Given the description of an element on the screen output the (x, y) to click on. 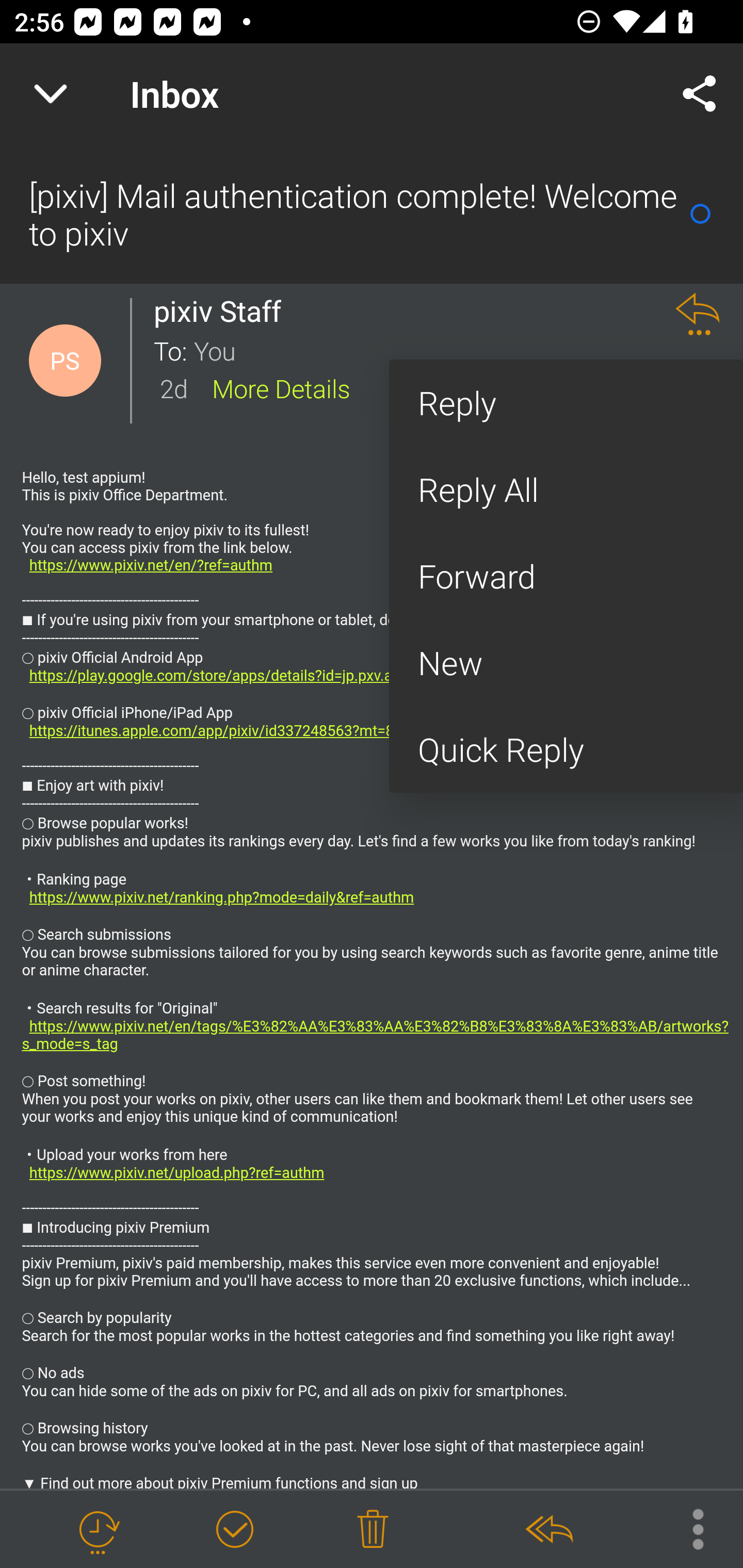
Reply (566, 402)
Reply All (566, 489)
Forward (566, 576)
New (566, 662)
Quick Reply (566, 749)
